Given the description of an element on the screen output the (x, y) to click on. 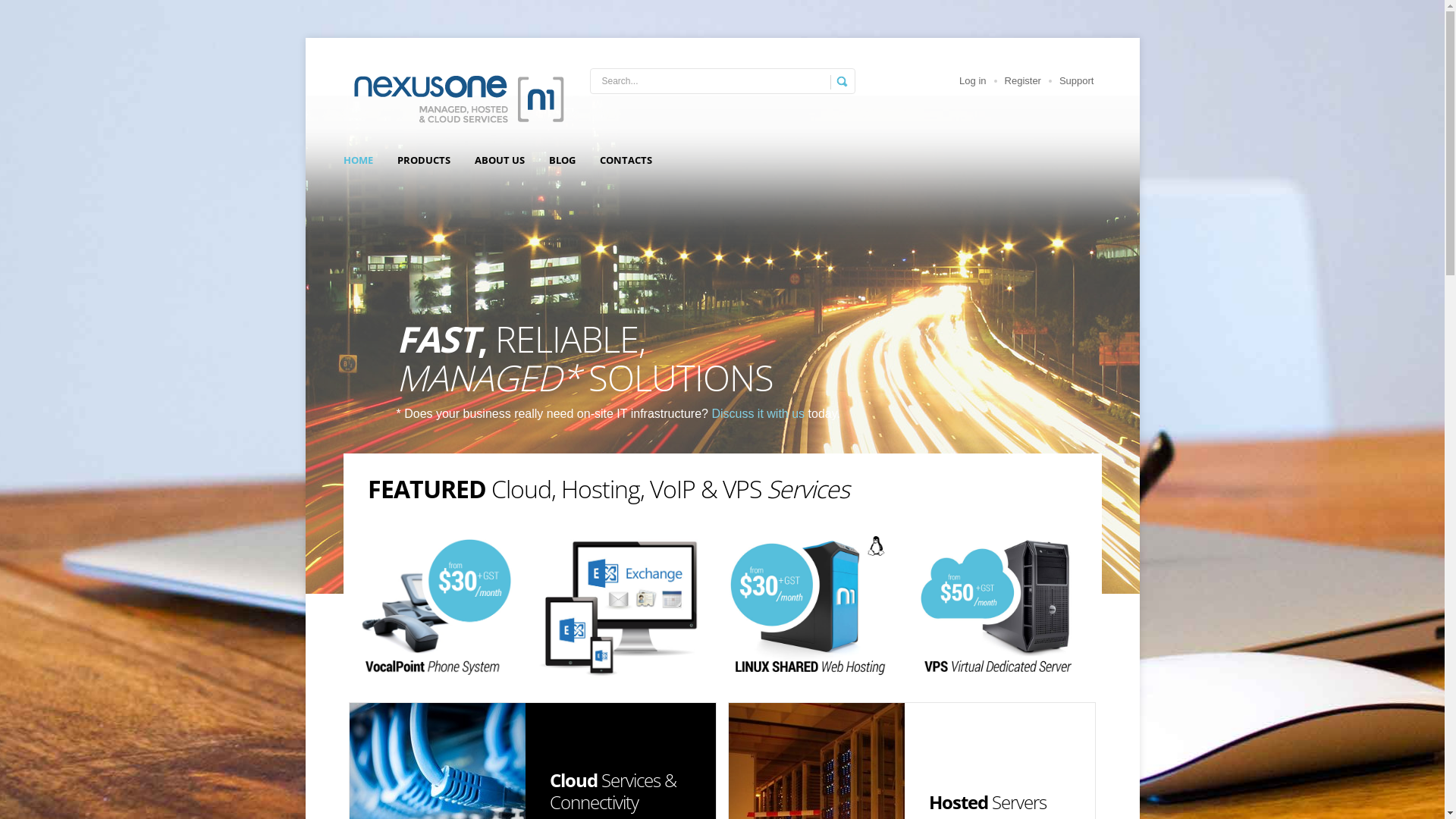
PRODUCTS Element type: text (423, 159)
MORE DETAILS Element type: text (965, 744)
BLOG Element type: text (561, 159)
HOME Element type: text (357, 159)
Nexus One Element type: text (456, 97)
ABOUT US Element type: text (499, 159)
MORE DETAILS Element type: text (965, 571)
Log in Element type: text (972, 80)
Register Element type: text (1022, 80)
Support Element type: text (1076, 80)
MORE DETAILS Element type: text (586, 571)
CONTACTS Element type: text (624, 159)
MORE DETAILS Element type: text (586, 744)
